Given the description of an element on the screen output the (x, y) to click on. 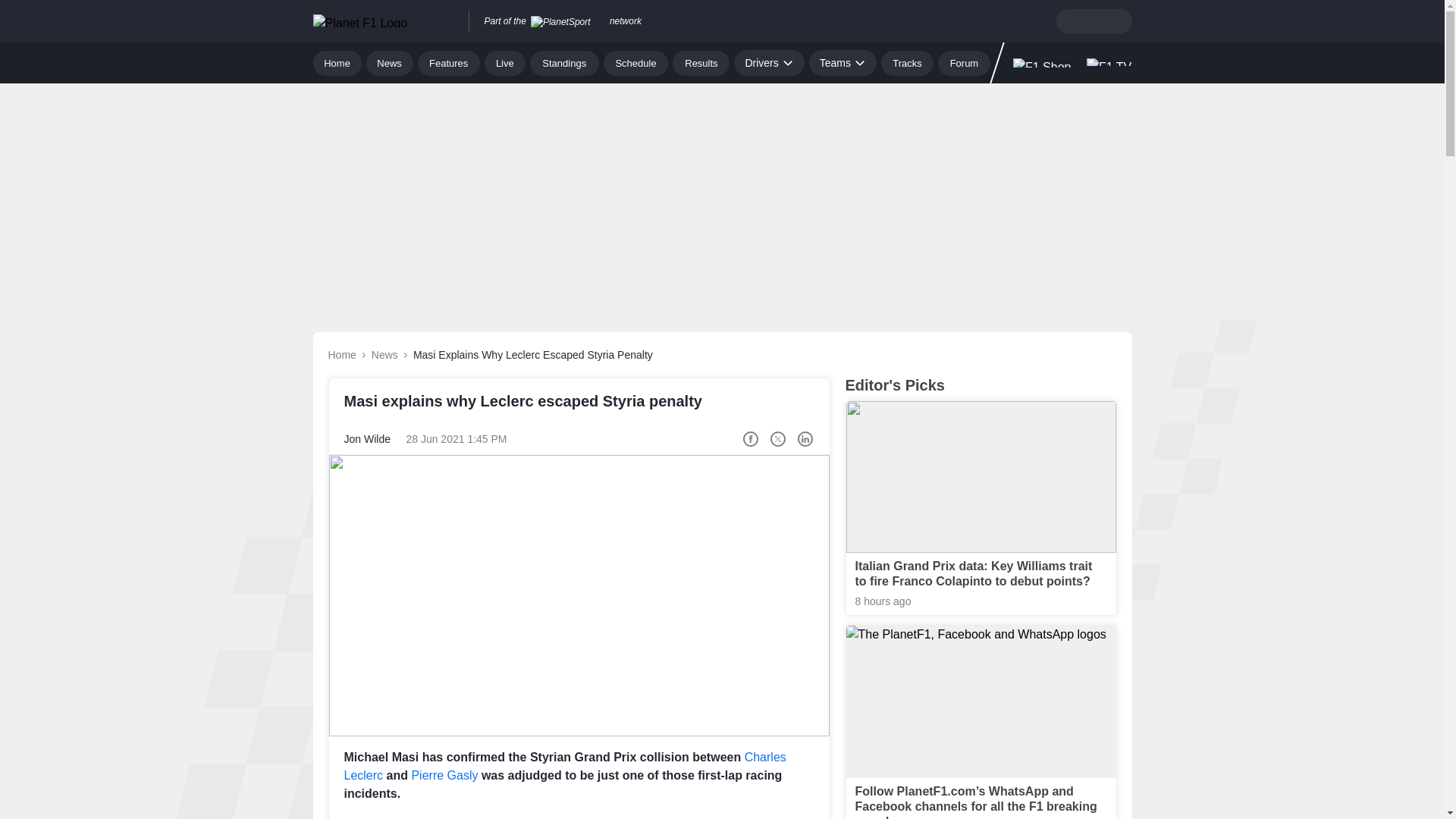
Live (504, 62)
Schedule (636, 62)
Home (337, 62)
Features (448, 62)
Drivers (768, 62)
Standings (563, 62)
News (389, 62)
Teams (842, 62)
Results (700, 62)
